Given the description of an element on the screen output the (x, y) to click on. 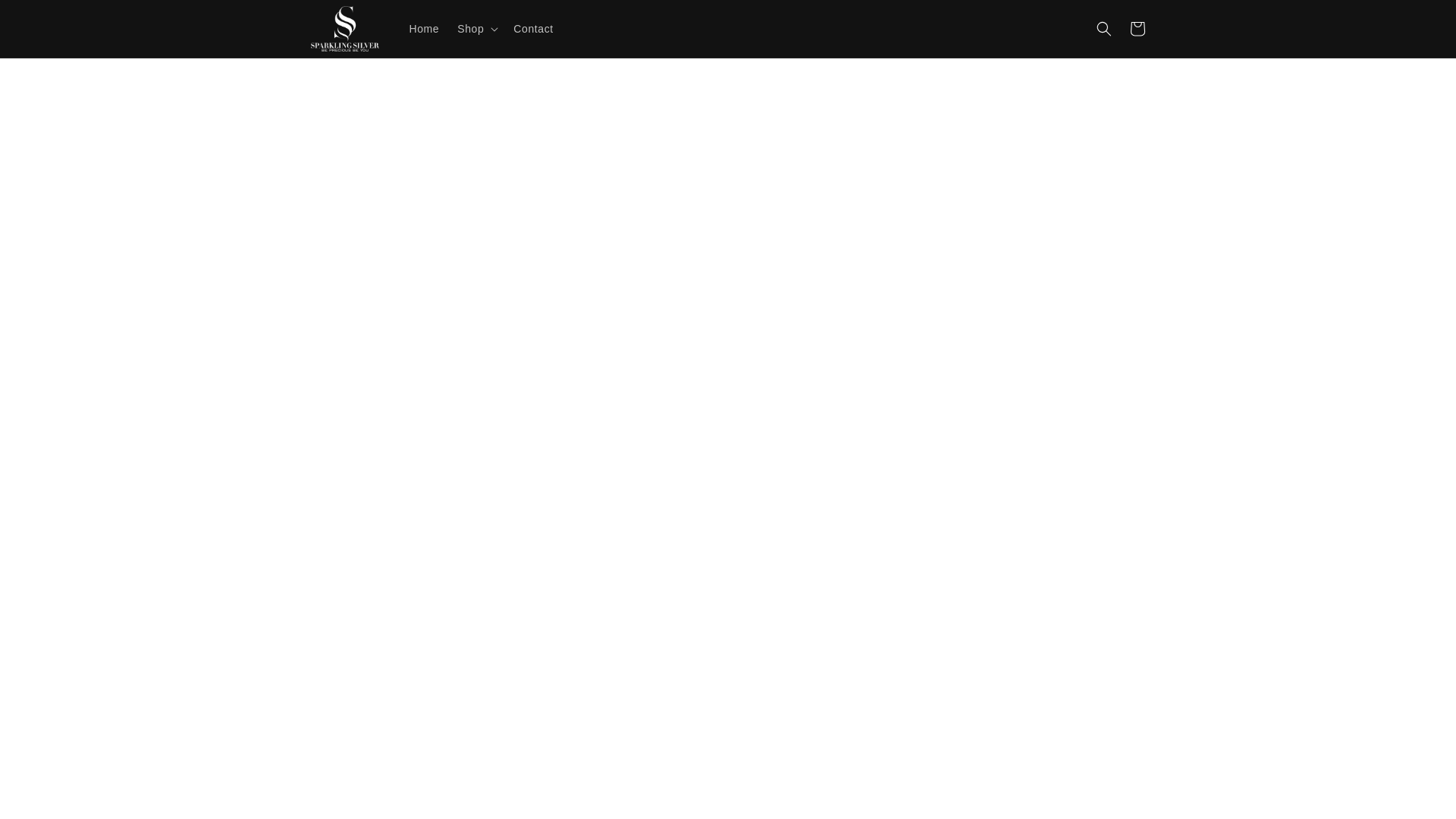
Skip to content (45, 17)
